Given the description of an element on the screen output the (x, y) to click on. 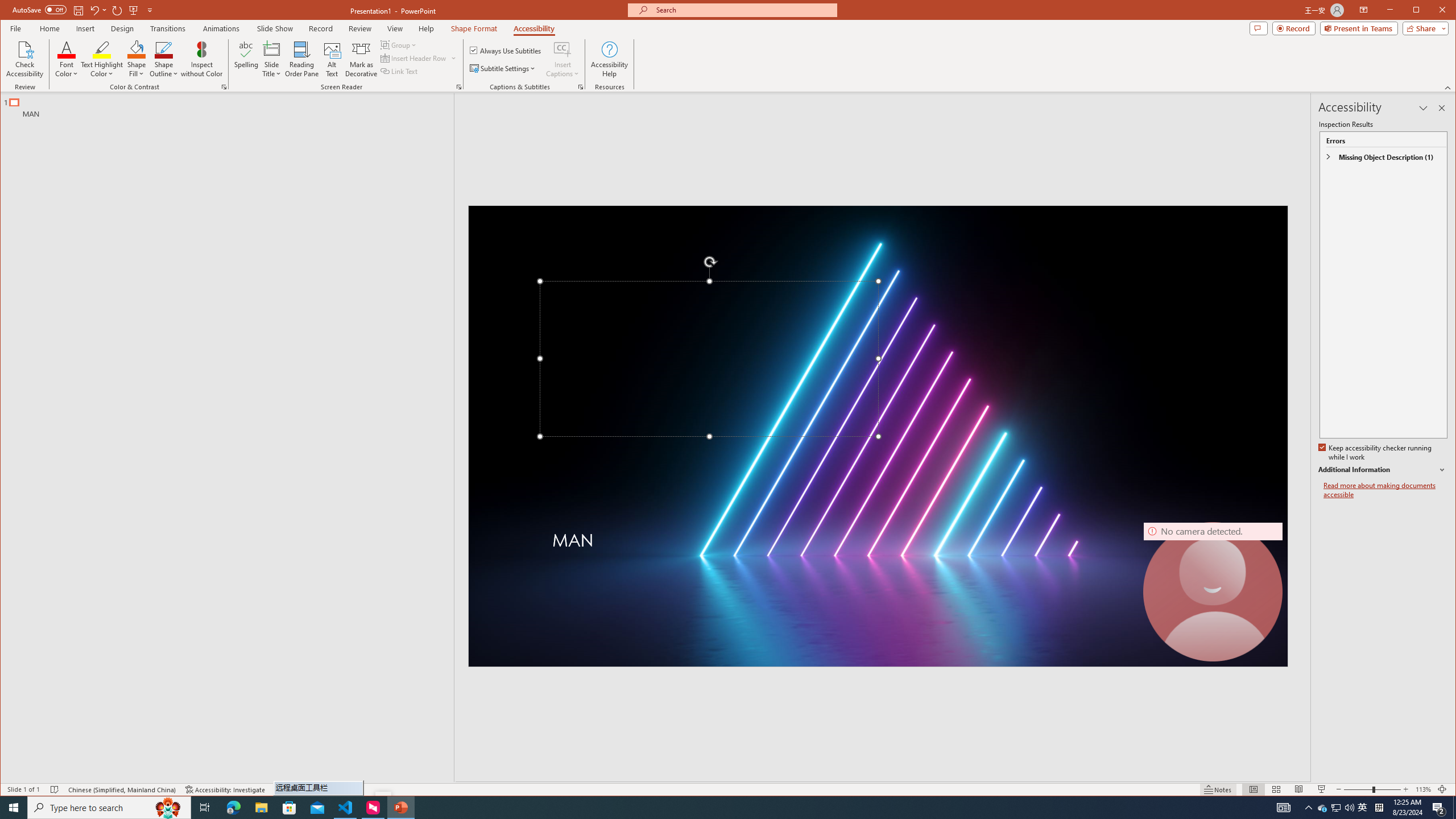
Mark as Decorative (360, 59)
Color & Contrast (223, 86)
